Given the description of an element on the screen output the (x, y) to click on. 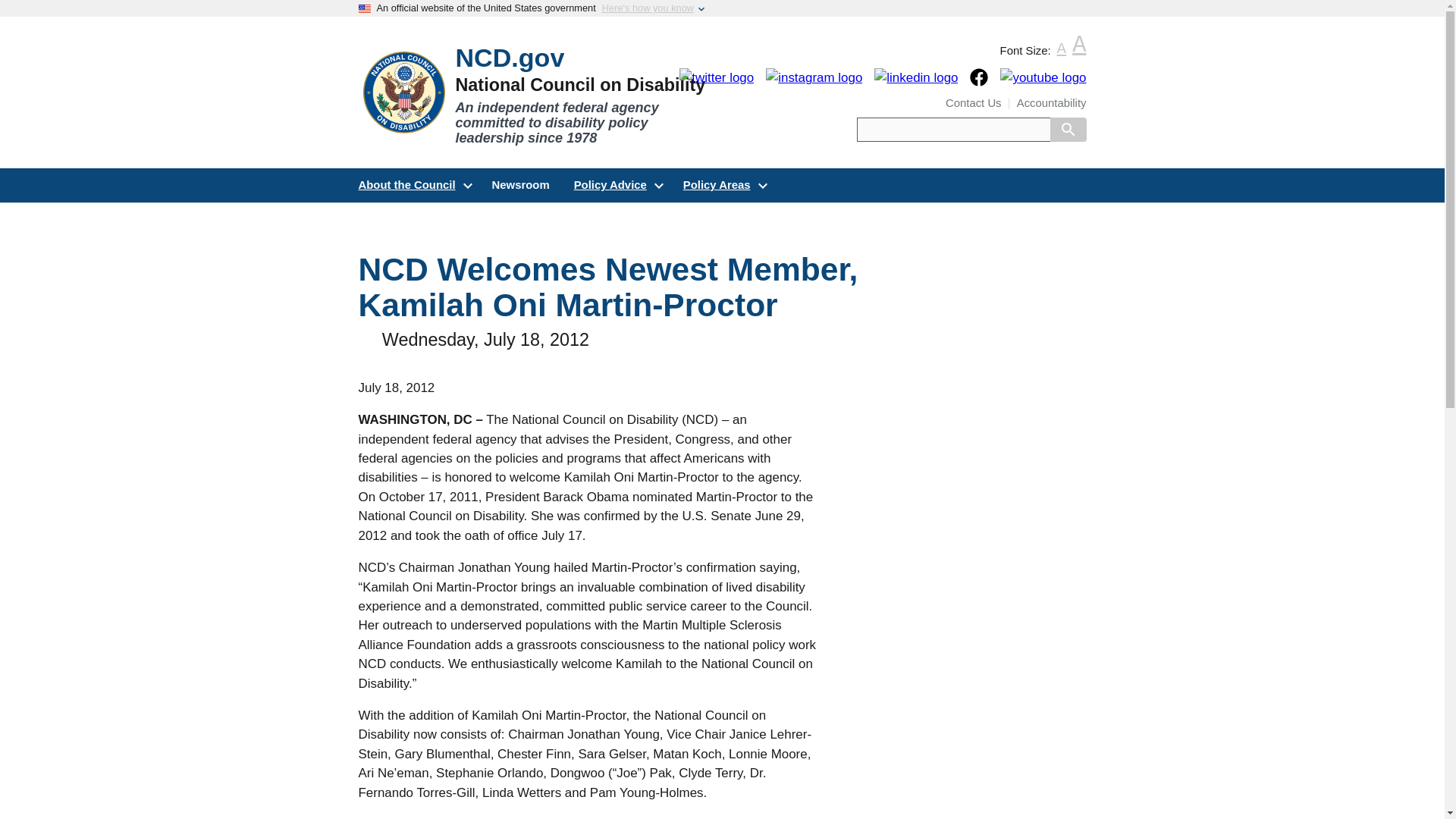
Accountability (1051, 103)
About the Council (412, 185)
Home (540, 94)
Newsroom (521, 185)
Contact Us (972, 103)
Policy Advice (616, 185)
Policy Areas (722, 185)
Here's how you know (648, 8)
